Given the description of an element on the screen output the (x, y) to click on. 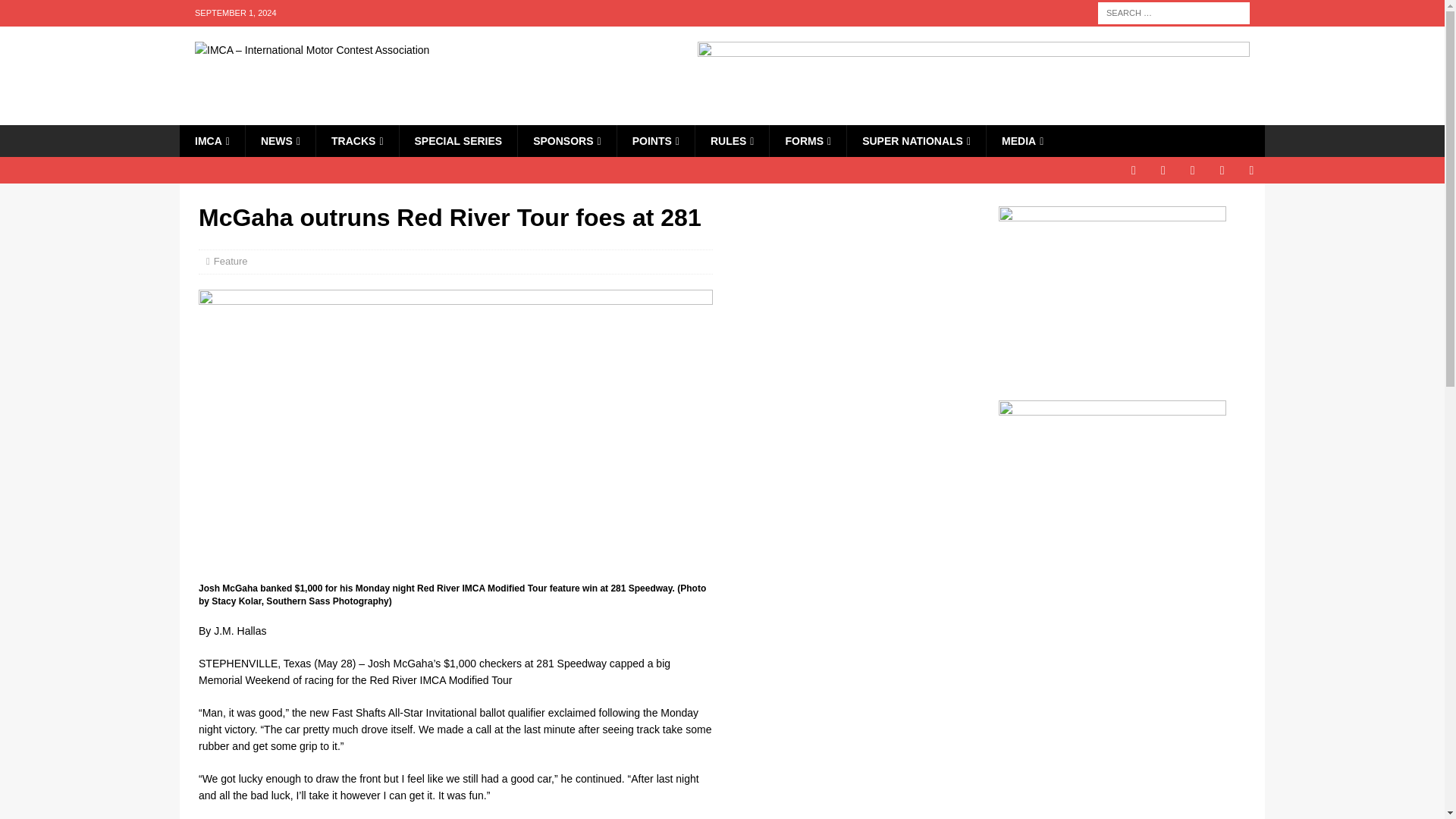
POINTS (654, 141)
IMCA (211, 141)
SPONSORS (565, 141)
TRACKS (356, 141)
SPECIAL SERIES (458, 141)
NEWS (279, 141)
Search (56, 11)
